Given the description of an element on the screen output the (x, y) to click on. 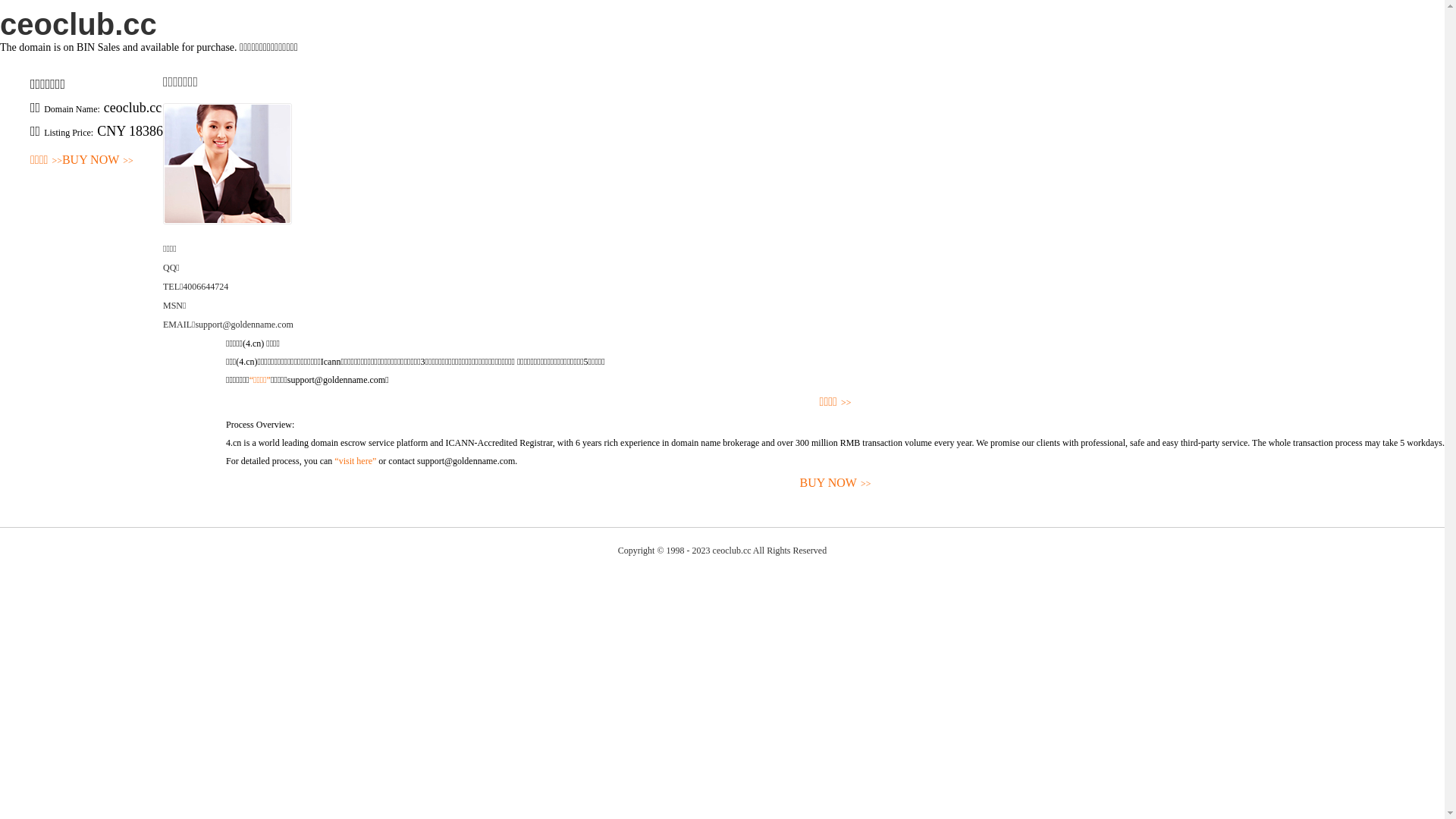
BUY NOW>> Element type: text (97, 160)
BUY NOW>> Element type: text (834, 483)
